Given the description of an element on the screen output the (x, y) to click on. 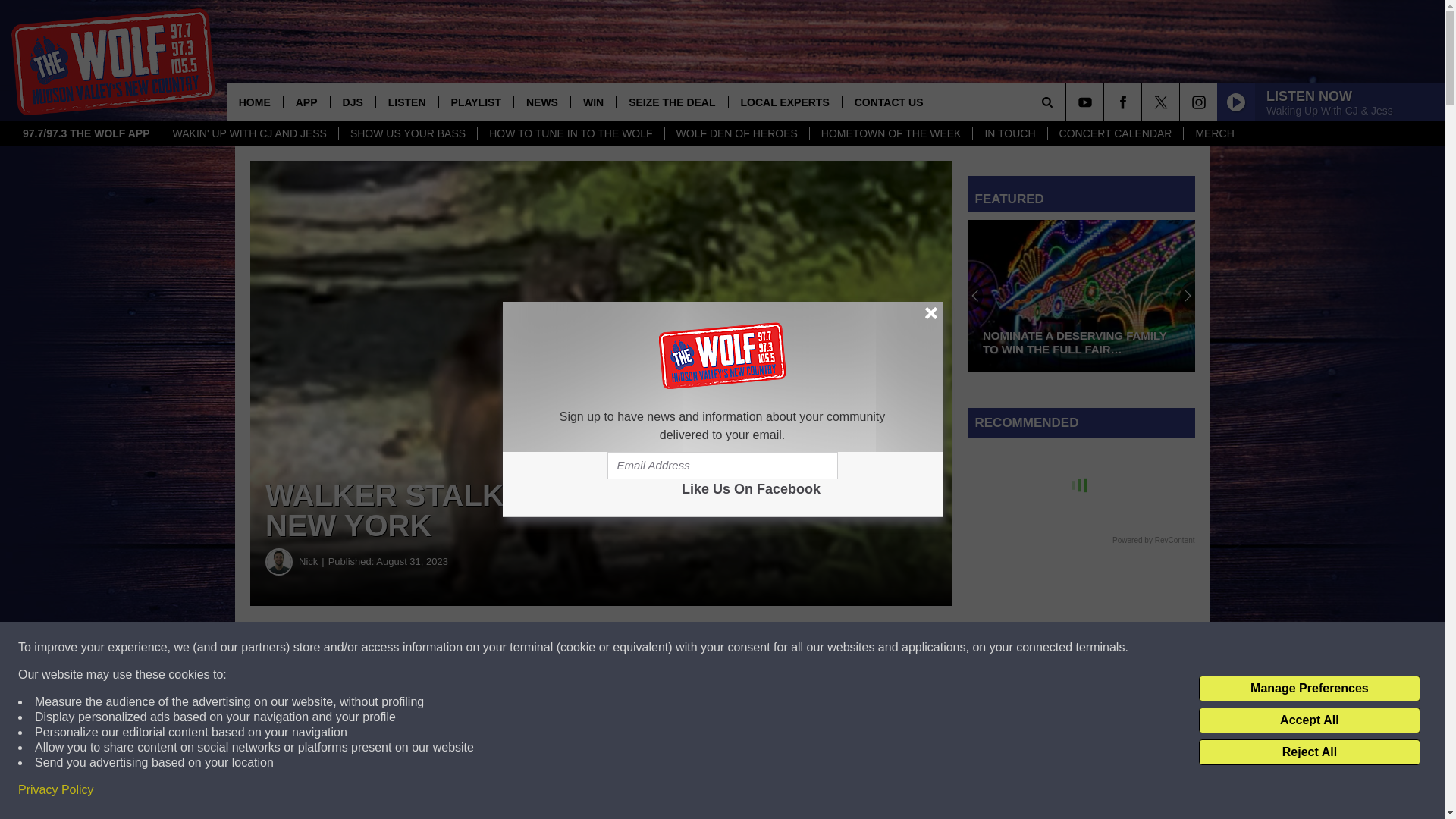
Privacy Policy (55, 789)
MERCH (1213, 133)
SEARCH (1068, 102)
HOMETOWN OF THE WEEK (890, 133)
HOW TO TUNE IN TO THE WOLF (570, 133)
Reject All (1309, 751)
SEIZE THE DEAL (670, 102)
WIN (592, 102)
CONCERT CALENDAR (1114, 133)
SHOW US YOUR BASS (407, 133)
WOLF DEN OF HEROES (736, 133)
NEWS (541, 102)
Manage Preferences (1309, 688)
DJS (352, 102)
SEARCH (1068, 102)
